Given the description of an element on the screen output the (x, y) to click on. 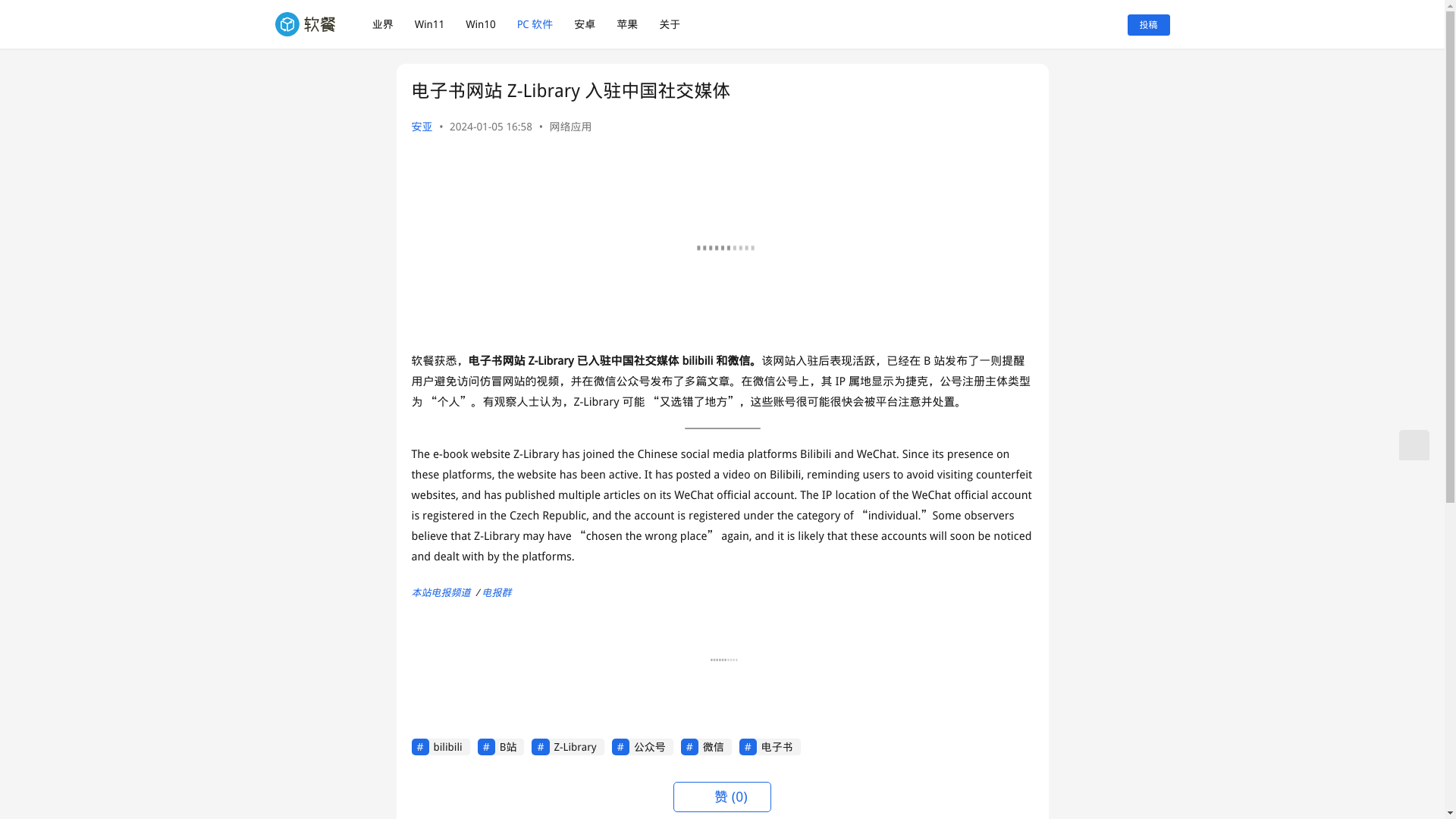
bilibili (439, 746)
Z-Library (567, 746)
Win10 (480, 24)
Win11 (429, 24)
